Given the description of an element on the screen output the (x, y) to click on. 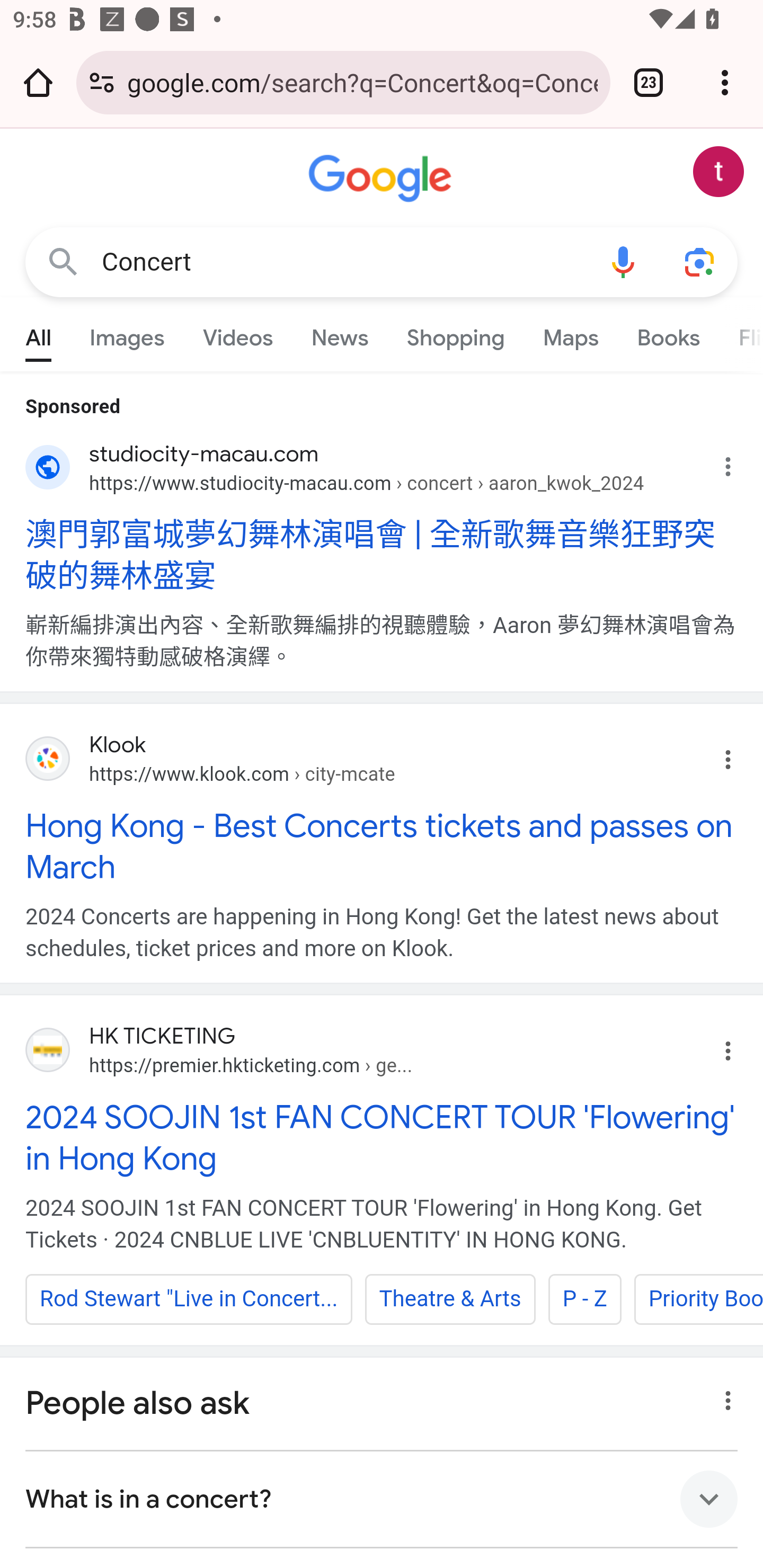
Open the home page (38, 82)
Connection is secure (101, 82)
Switch or close tabs (648, 82)
Customize and control Google Chrome (724, 82)
Google (381, 179)
Google Search (63, 262)
Search using your camera or photos (699, 262)
Concert (343, 261)
Images (127, 333)
Videos (237, 333)
News (338, 333)
Shopping (455, 333)
Maps (570, 333)
Books (668, 333)
Why this ad? (738, 462)
澳門郭富城夢幻舞林演唱會 | 全新歌舞音樂狂野突破的舞林盛宴 (381, 554)
Rod Stewart "Live in Concert... (188, 1298)
Theatre & Arts (449, 1298)
P - Z (584, 1298)
About this result (723, 1395)
What is in a concert? (381, 1498)
